Given the description of an element on the screen output the (x, y) to click on. 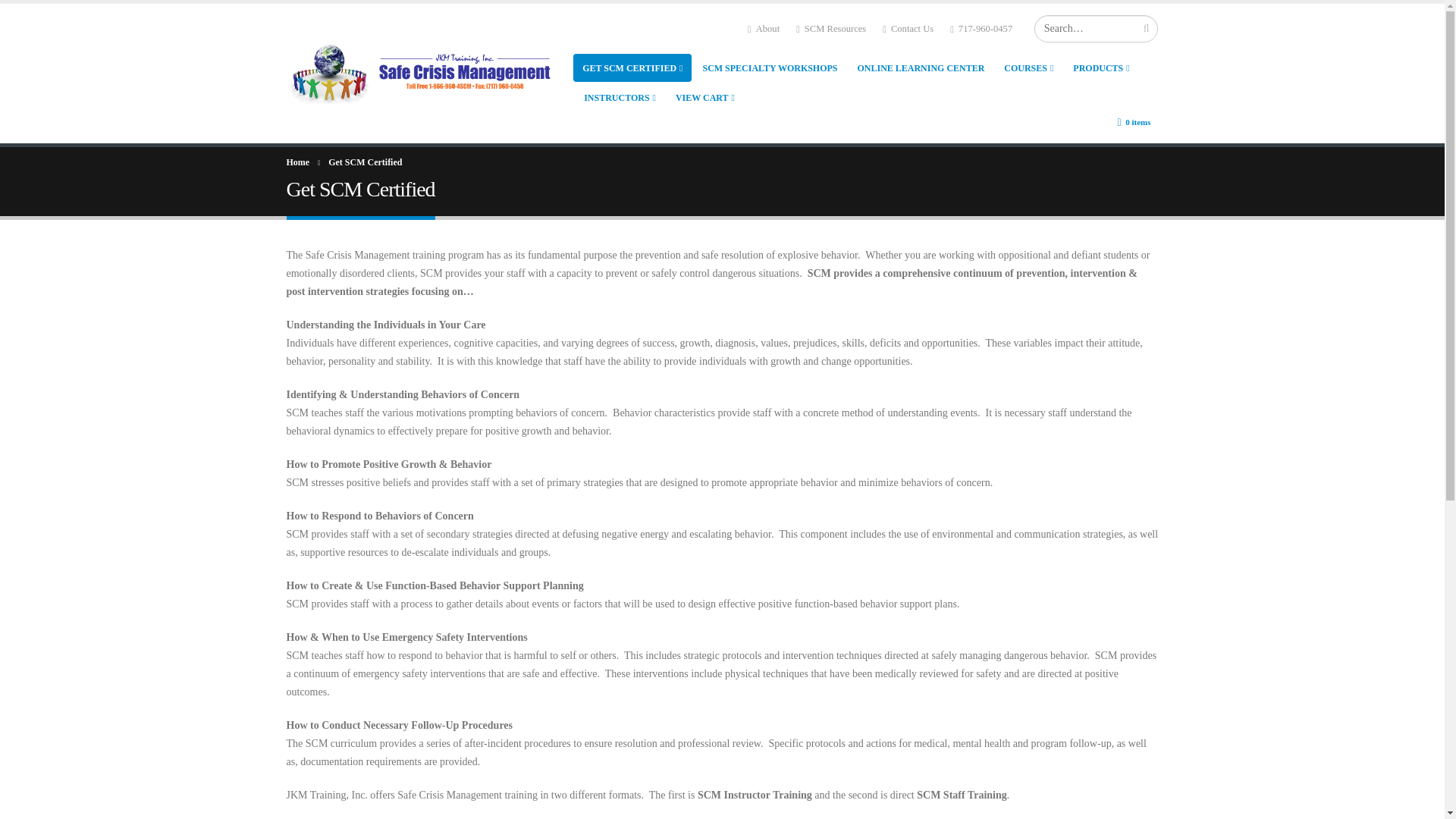
ONLINE LEARNING CENTER (921, 67)
SCM SPECIALTY WORKSHOPS (769, 67)
Contact Us (907, 28)
INSTRUCTORS (620, 97)
Home (298, 162)
COURSES (1028, 67)
GET SCM CERTIFIED (632, 67)
Search (1146, 28)
About (763, 28)
SCM Resources (831, 28)
